Given the description of an element on the screen output the (x, y) to click on. 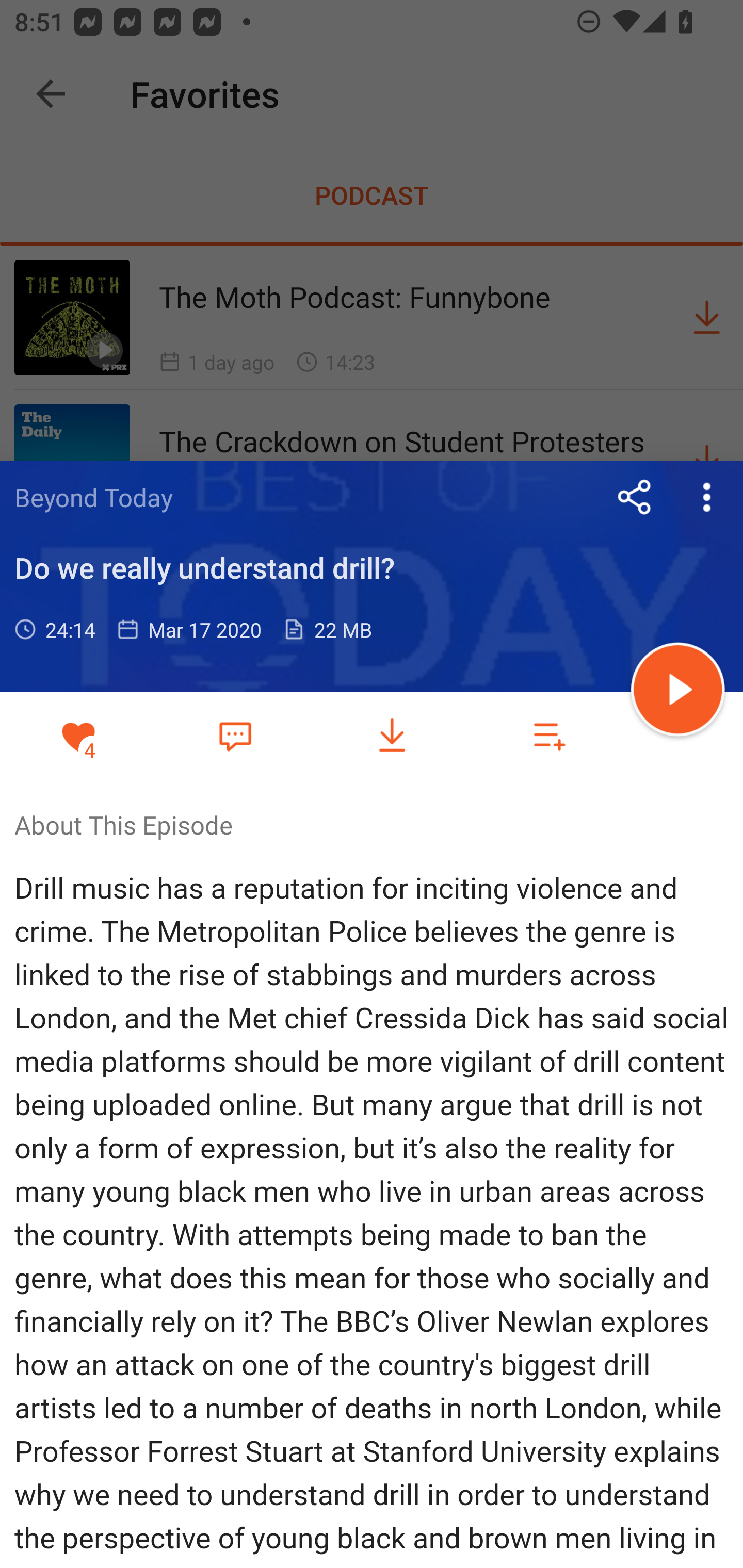
Share (634, 496)
more options (706, 496)
Play (677, 692)
Favorite (234, 735)
Remove from Favorites (78, 735)
Download (391, 735)
Add to playlist (548, 735)
